Given the description of an element on the screen output the (x, y) to click on. 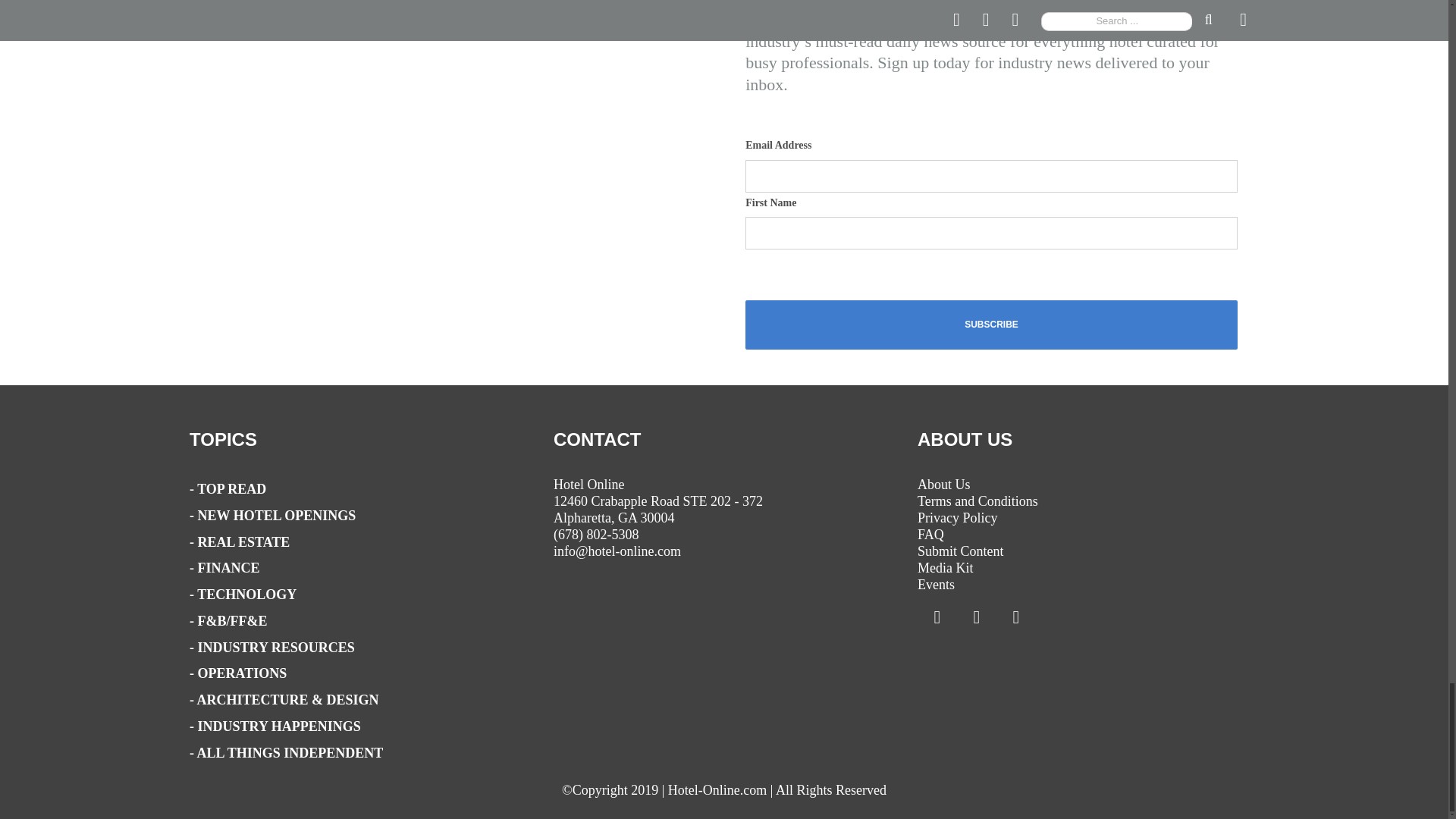
SUbscribe (991, 324)
